Given the description of an element on the screen output the (x, y) to click on. 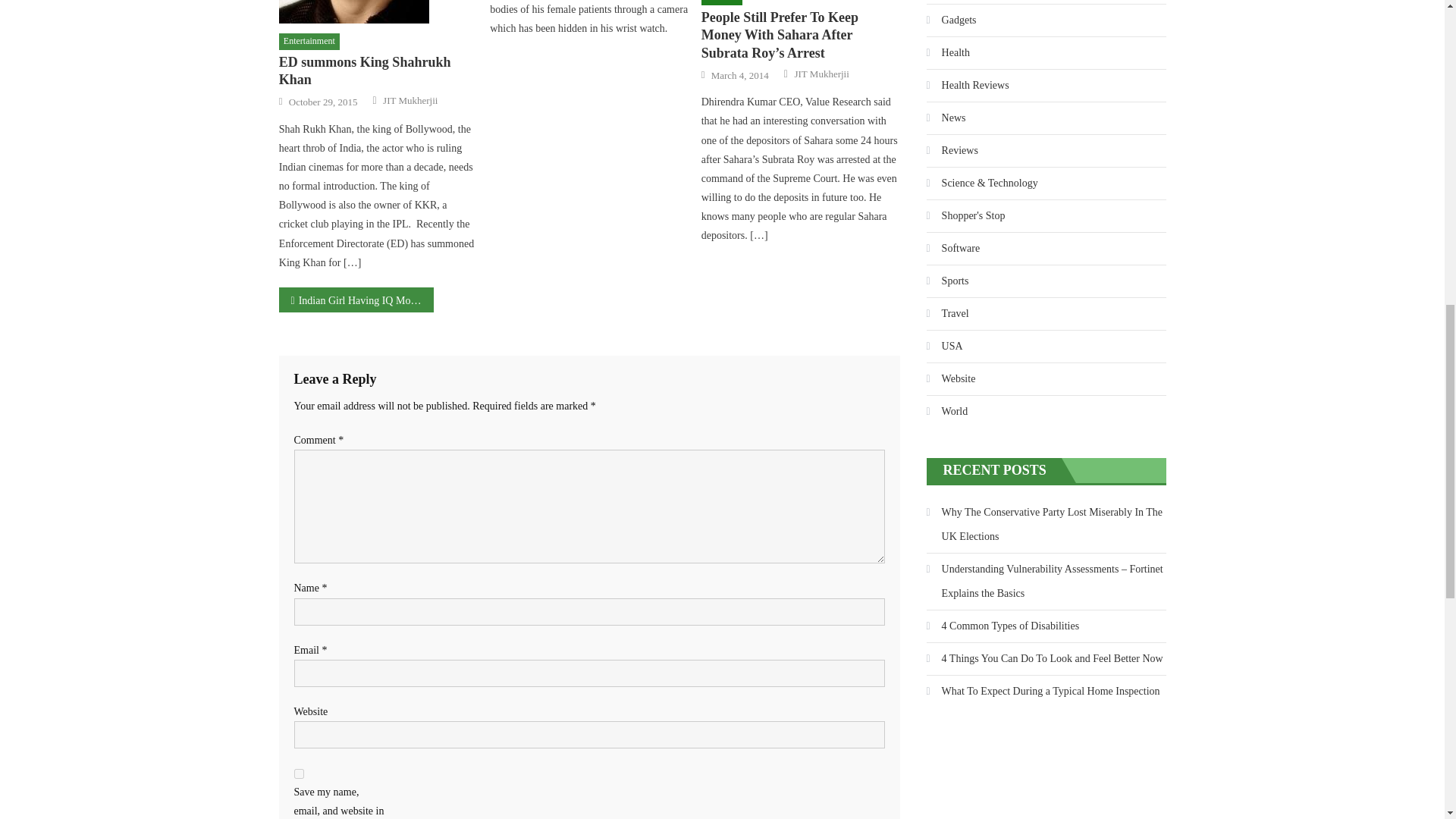
March 4, 2014 (739, 75)
ED summons King Shahrukh Khan (378, 11)
JIT Mukherjii (820, 74)
ED summons King Shahrukh Khan (378, 71)
JIT Mukherjii (410, 100)
Business (721, 2)
Indian Girl Having IQ More Than Einstein And Hawking (356, 299)
Entertainment (309, 41)
yes (299, 773)
October 29, 2015 (323, 101)
